Given the description of an element on the screen output the (x, y) to click on. 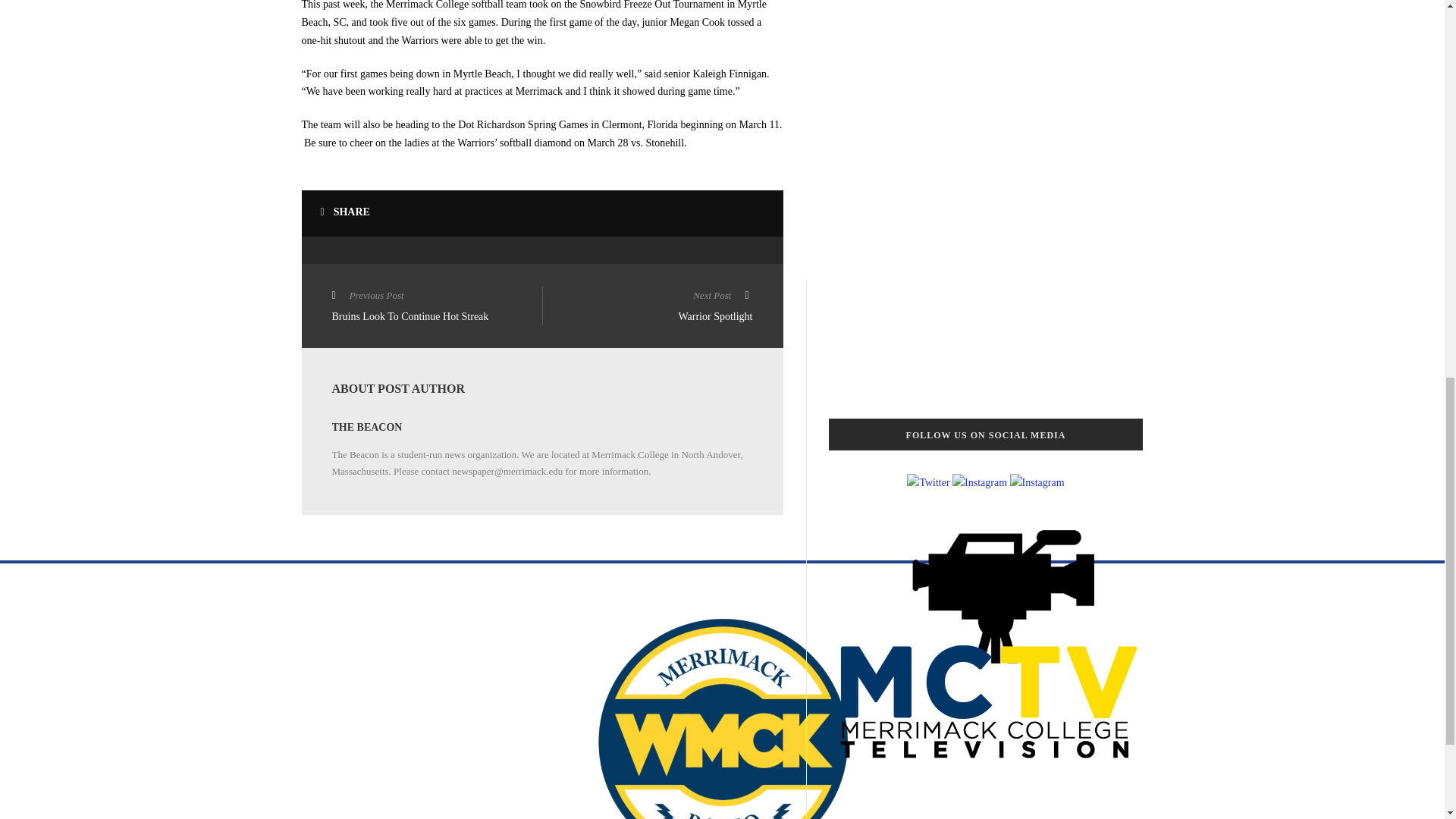
Posts by The Beacon (367, 427)
